Given the description of an element on the screen output the (x, y) to click on. 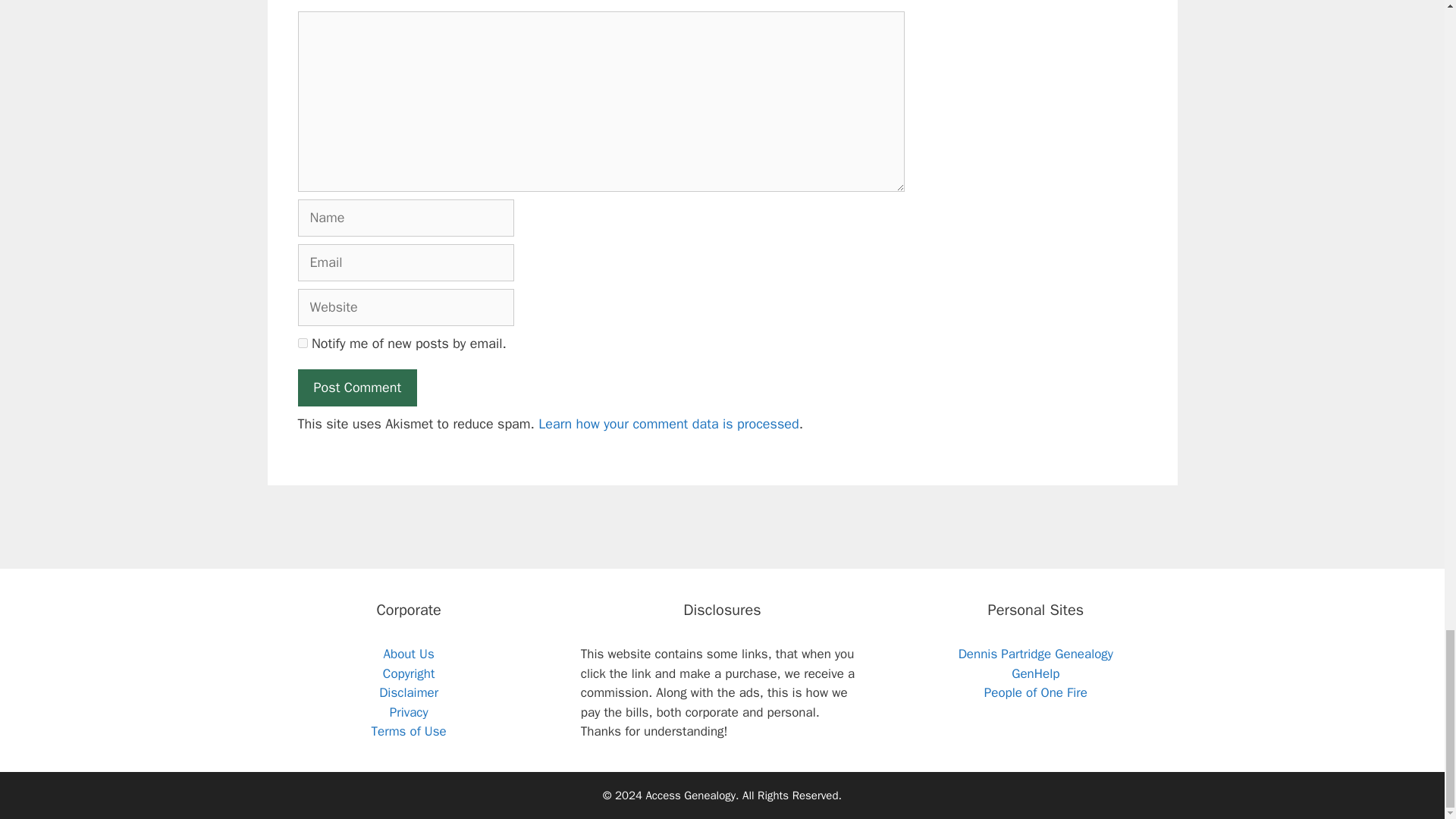
Post Comment (356, 387)
Learn how your comment data is processed (667, 423)
subscribe (302, 343)
Post Comment (356, 387)
